Given the description of an element on the screen output the (x, y) to click on. 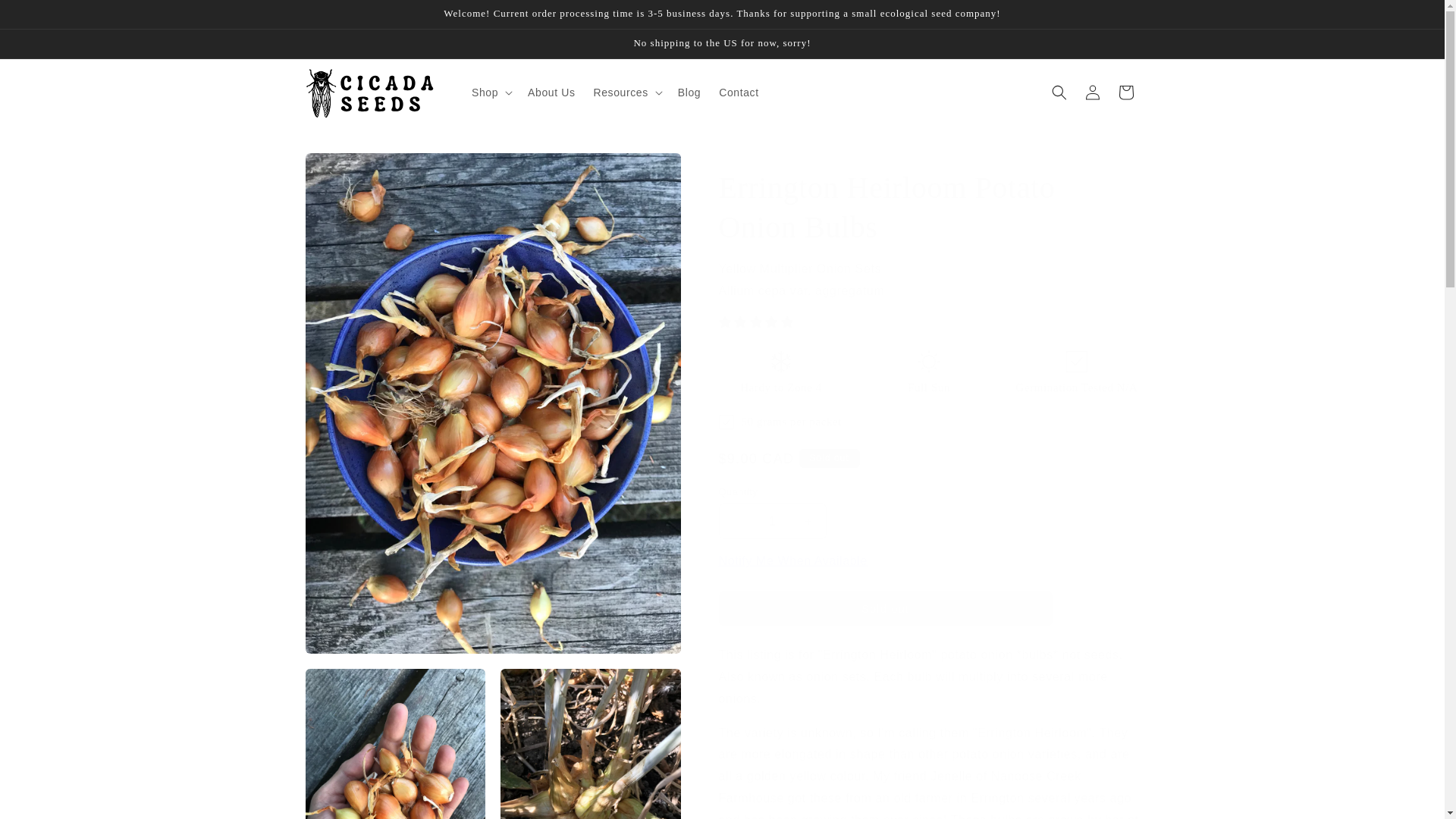
1 (773, 520)
Open media 2 in modal (394, 744)
About Us (550, 92)
Skip to content (45, 16)
Open media 3 in modal (590, 744)
Blog (689, 92)
